Given the description of an element on the screen output the (x, y) to click on. 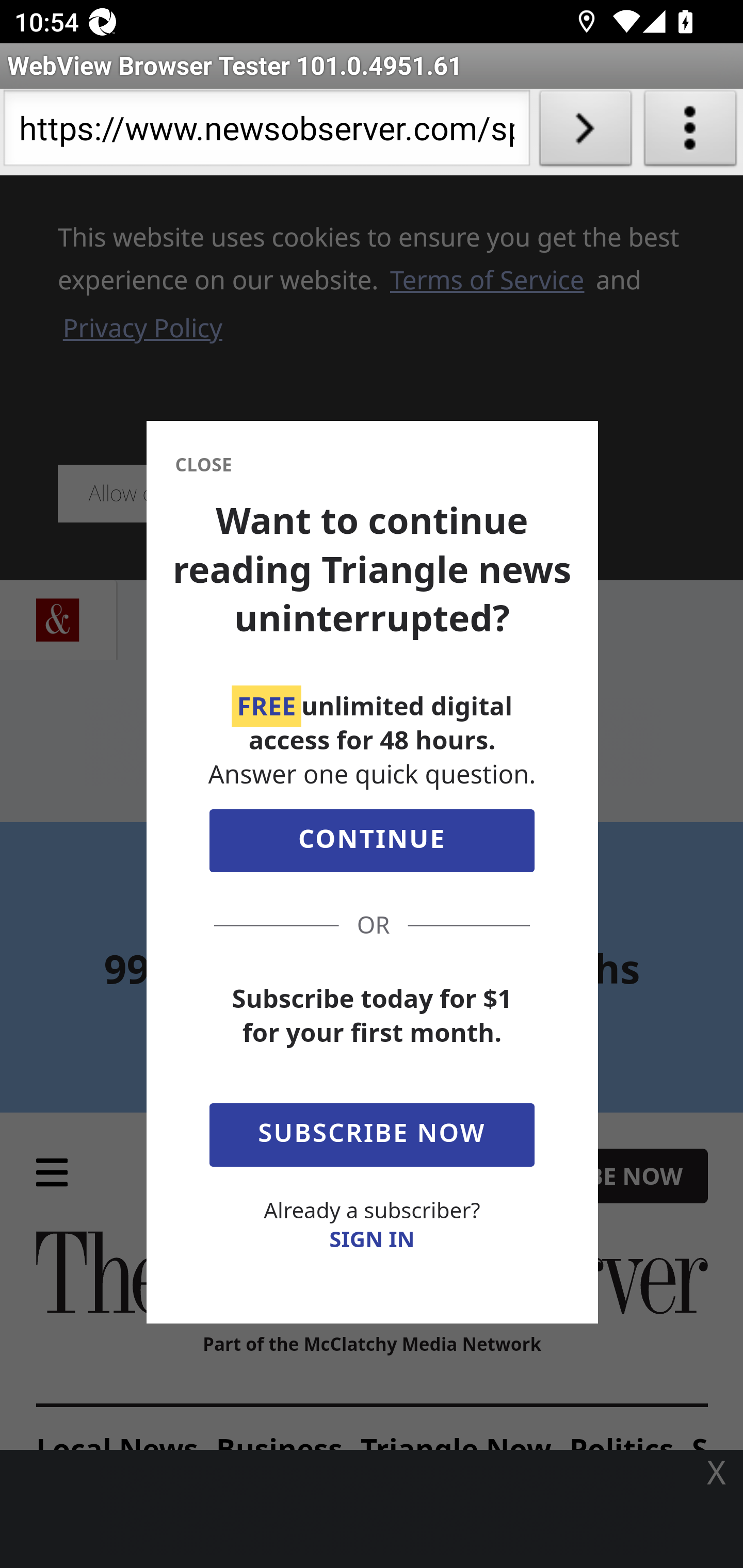
Load URL (585, 132)
About WebView (690, 132)
CLOSE (203, 464)
CONTINUE (371, 844)
SUBSCRIBE NOW (371, 1130)
SIGN IN (371, 1239)
